Given the description of an element on the screen output the (x, y) to click on. 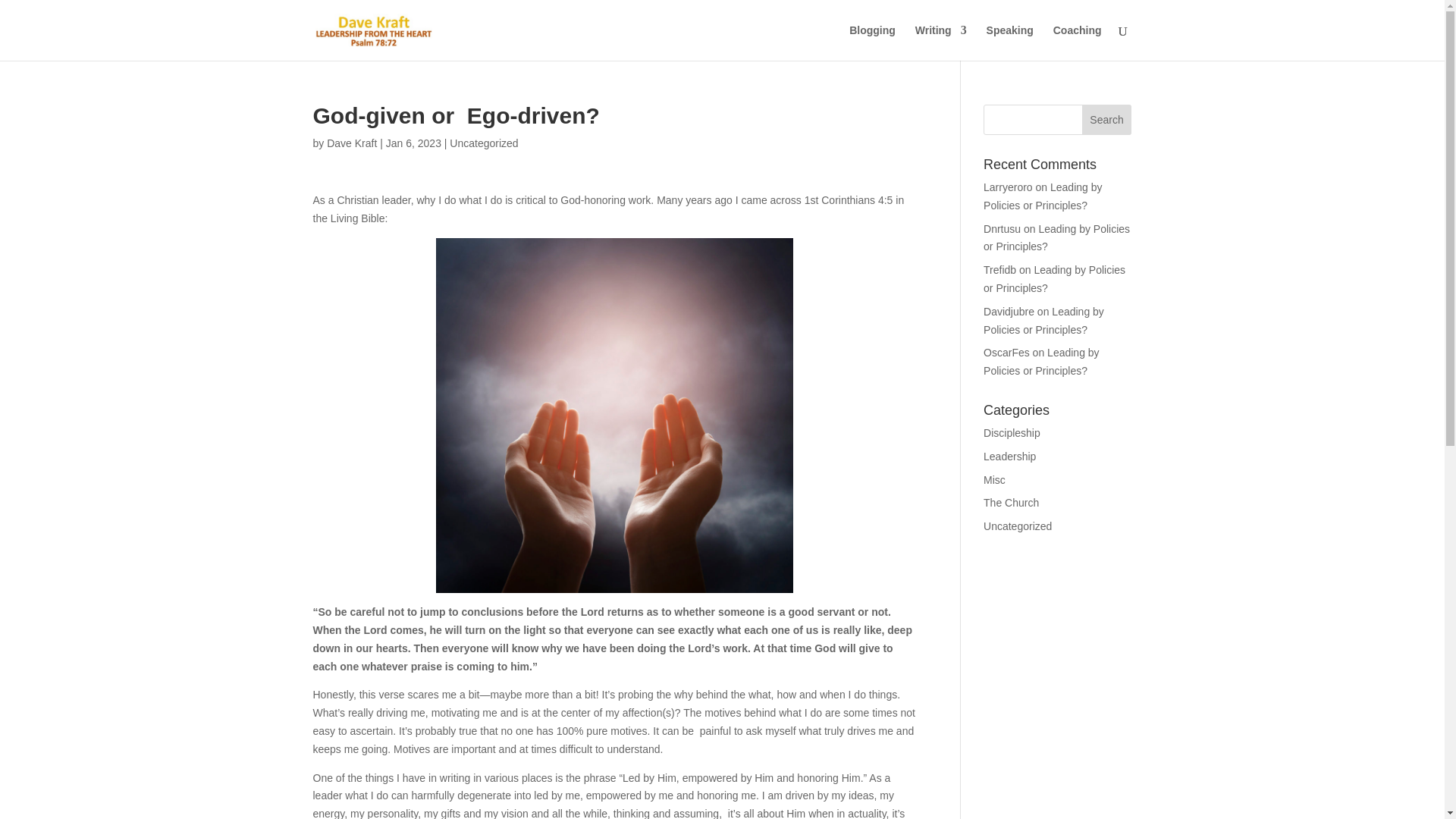
Search (1106, 119)
Uncategorized (1017, 526)
Dave Kraft (351, 143)
Leading by Policies or Principles? (1054, 278)
Uncategorized (483, 143)
Larryeroro (1008, 186)
Blogging (871, 42)
Davidjubre (1008, 311)
Misc (995, 480)
Leading by Policies or Principles? (1041, 361)
Leadership (1009, 456)
Coaching (1077, 42)
Writing (940, 42)
OscarFes (1006, 352)
The Church (1011, 502)
